Given the description of an element on the screen output the (x, y) to click on. 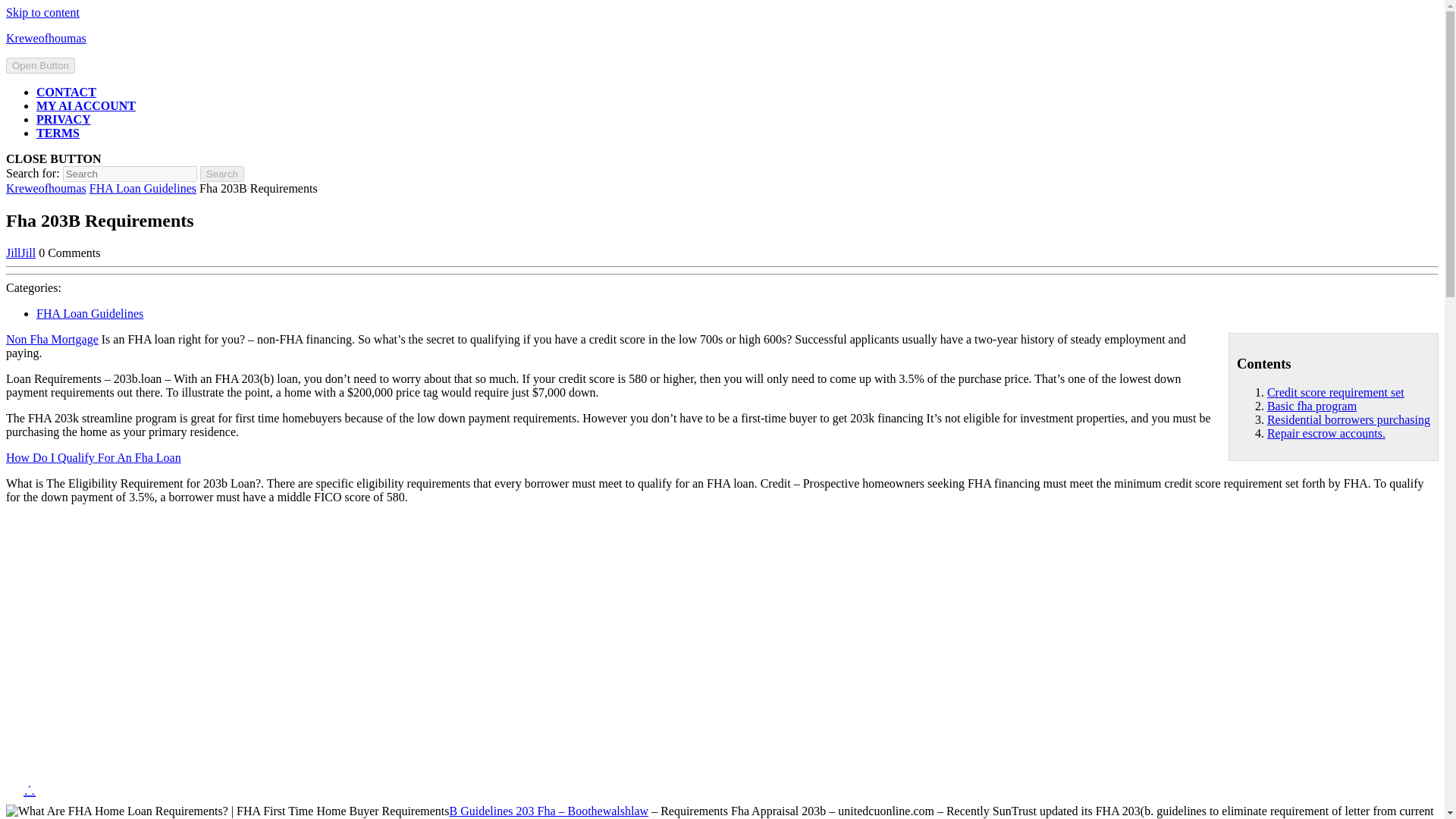
Open Button (40, 65)
Kreweofhoumas (45, 38)
Non Fha Mortgage (52, 338)
How Do I Qualify For An Fha Loan (92, 457)
CLOSE BUTTON (53, 158)
Kreweofhoumas (45, 187)
Repair escrow accounts. (1326, 432)
CONTACT (66, 91)
Basic fha program (1311, 405)
Search (222, 173)
